Given the description of an element on the screen output the (x, y) to click on. 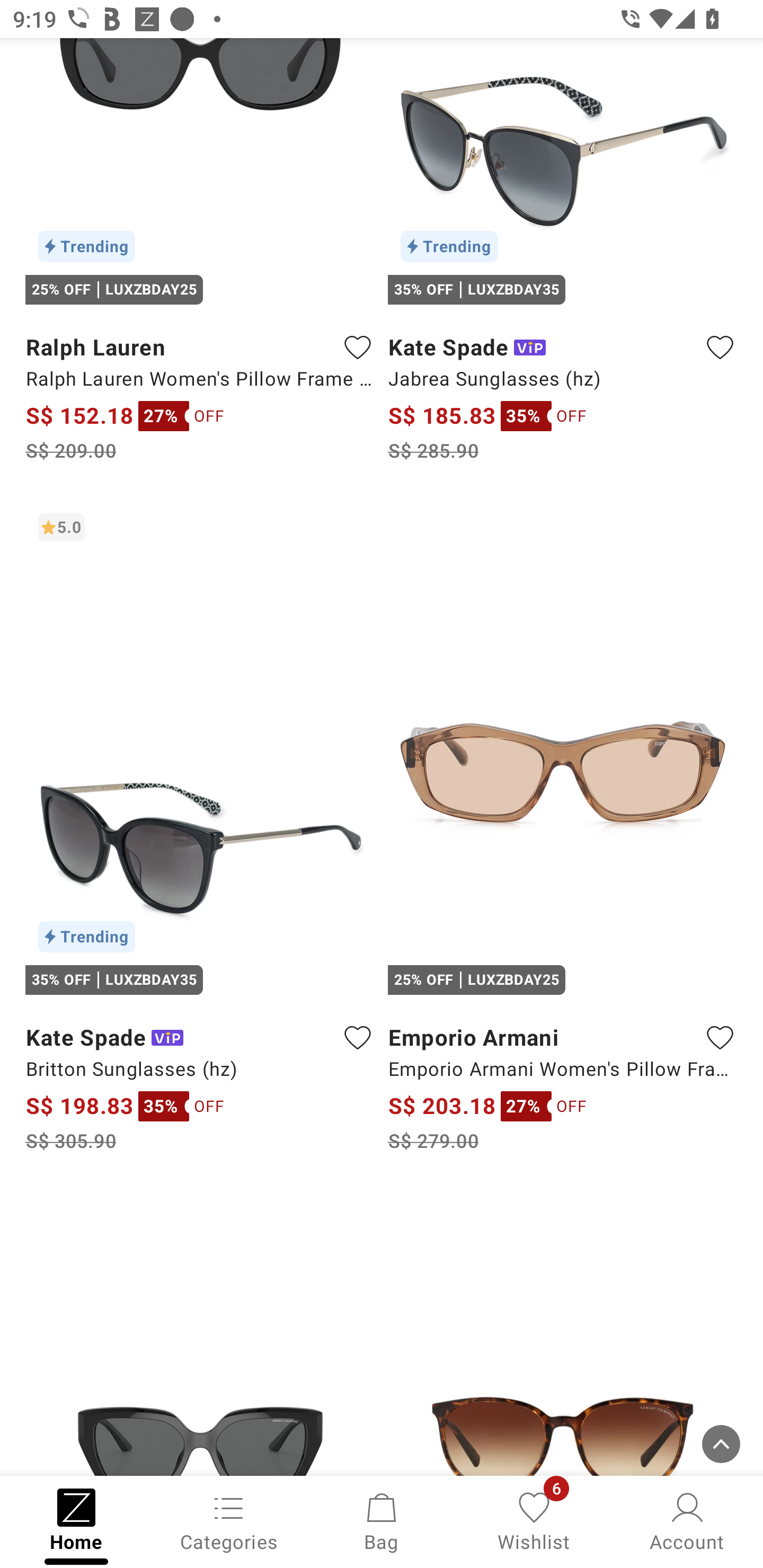
Categories (228, 1519)
Bag (381, 1519)
Wishlist, 6 new notifications Wishlist (533, 1519)
Account (686, 1519)
